Given the description of an element on the screen output the (x, y) to click on. 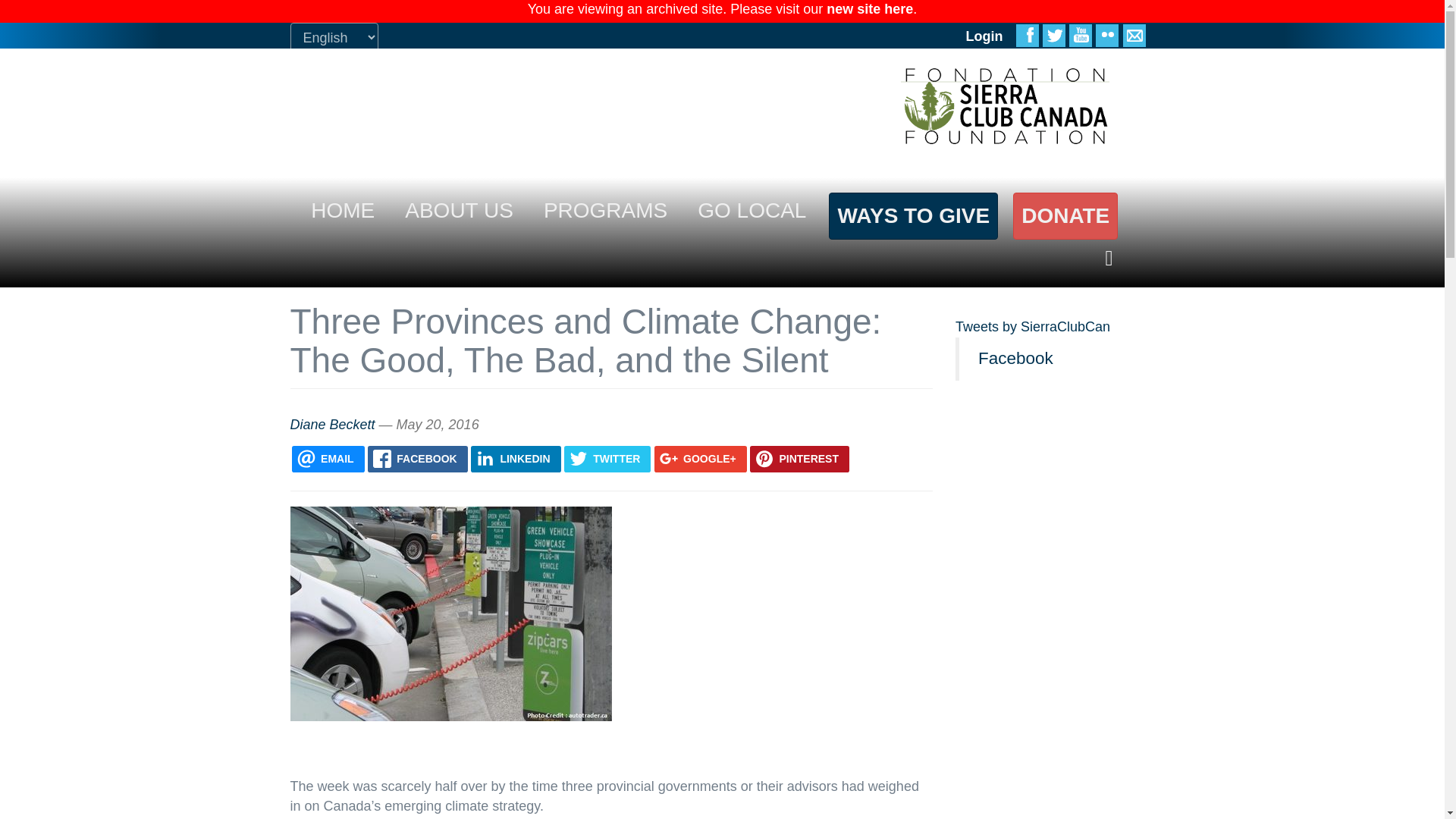
HOME (341, 210)
Youtube (1080, 35)
PROGRAMS (605, 210)
Login (984, 34)
Email (1133, 35)
GO LOCAL (751, 210)
Flickr (1107, 35)
ABOUT US (459, 210)
Home (1005, 105)
